Given the description of an element on the screen output the (x, y) to click on. 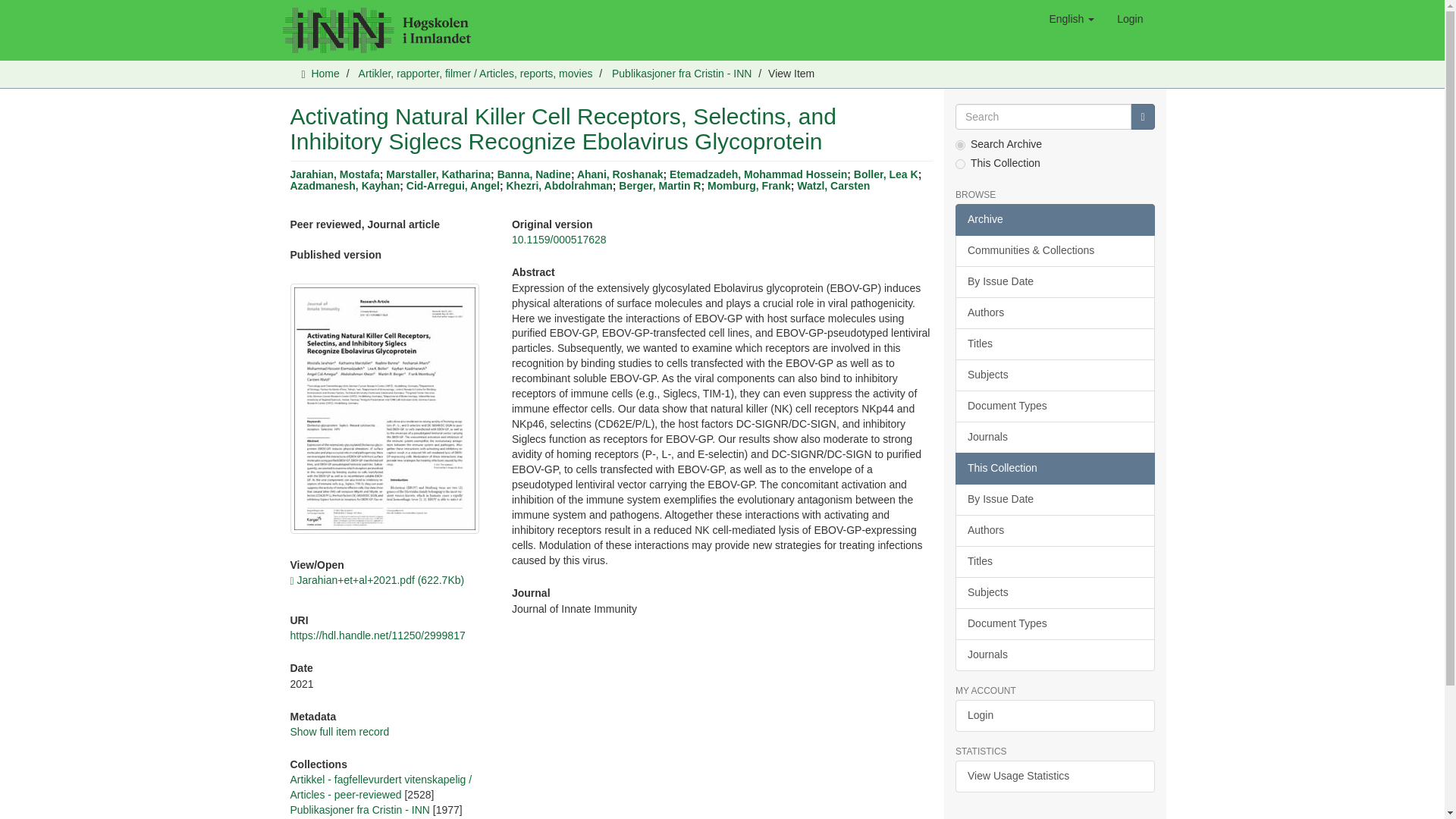
Watzl, Carsten (832, 185)
Jarahian, Mostafa (333, 174)
Show full item record (338, 731)
Publikasjoner fra Cristin - INN (359, 809)
Cid-Arregui, Angel (452, 185)
Berger, Martin R (659, 185)
Publikasjoner fra Cristin - INN (681, 73)
Boller, Lea K (885, 174)
Azadmanesh, Kayhan (343, 185)
Marstaller, Katharina (437, 174)
